Given the description of an element on the screen output the (x, y) to click on. 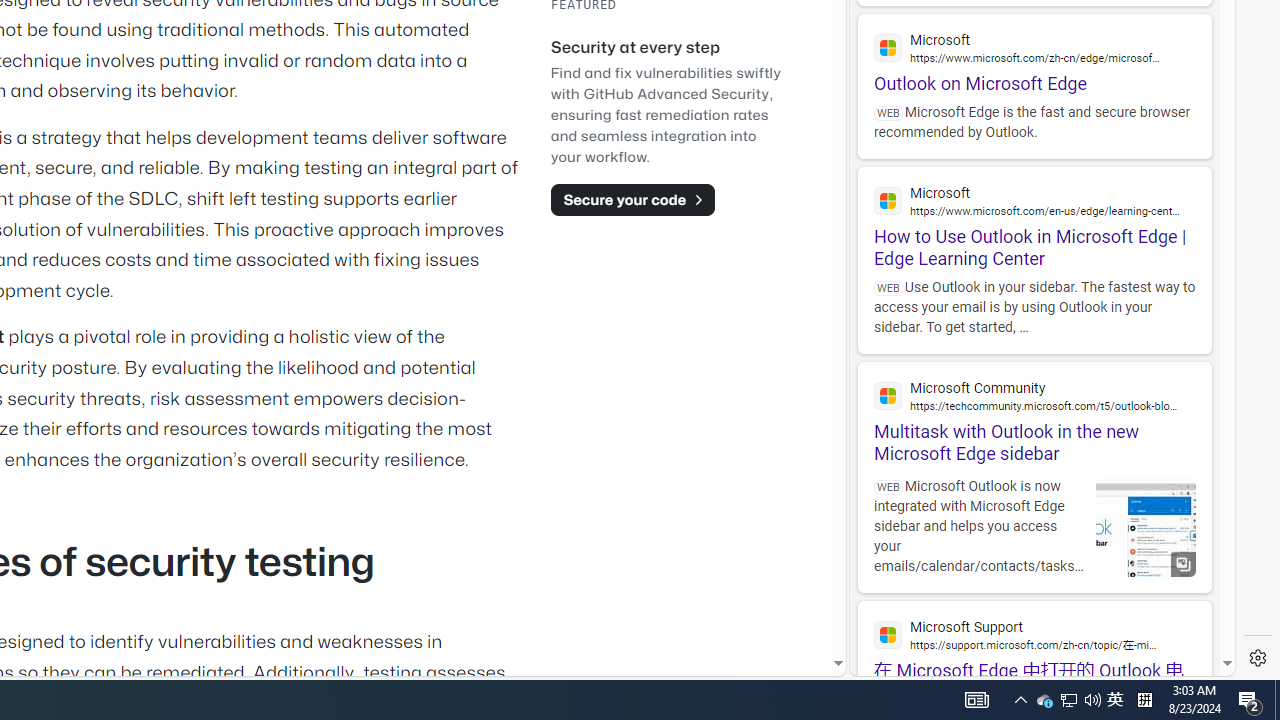
How to Use Outlook in Microsoft Edge | Edge Learning Center (1034, 218)
Microsoft Community (1034, 395)
Outlook on Microsoft Edge (1034, 54)
Secure your code (632, 199)
Multitask with Outlook in the new Microsoft Edge sidebar (1034, 413)
Microsoft Support (1034, 634)
